Given the description of an element on the screen output the (x, y) to click on. 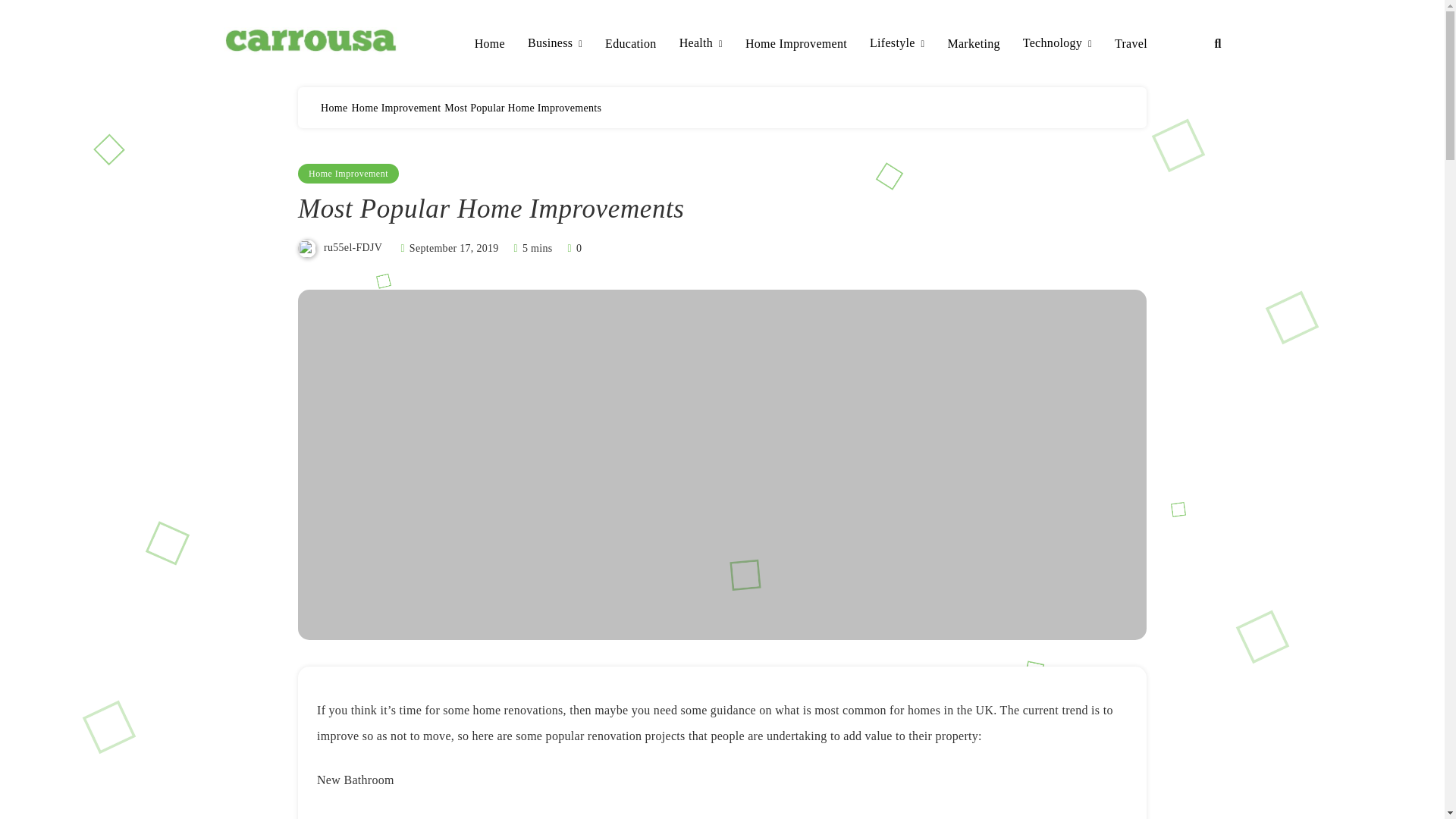
0 (573, 247)
installing a new bathroom (610, 818)
Technology (1057, 43)
Travel (1131, 44)
Home Improvement (348, 173)
Home Improvement (395, 107)
Home (489, 44)
Education (630, 44)
Business (554, 43)
CARROUSSA (307, 76)
